Given the description of an element on the screen output the (x, y) to click on. 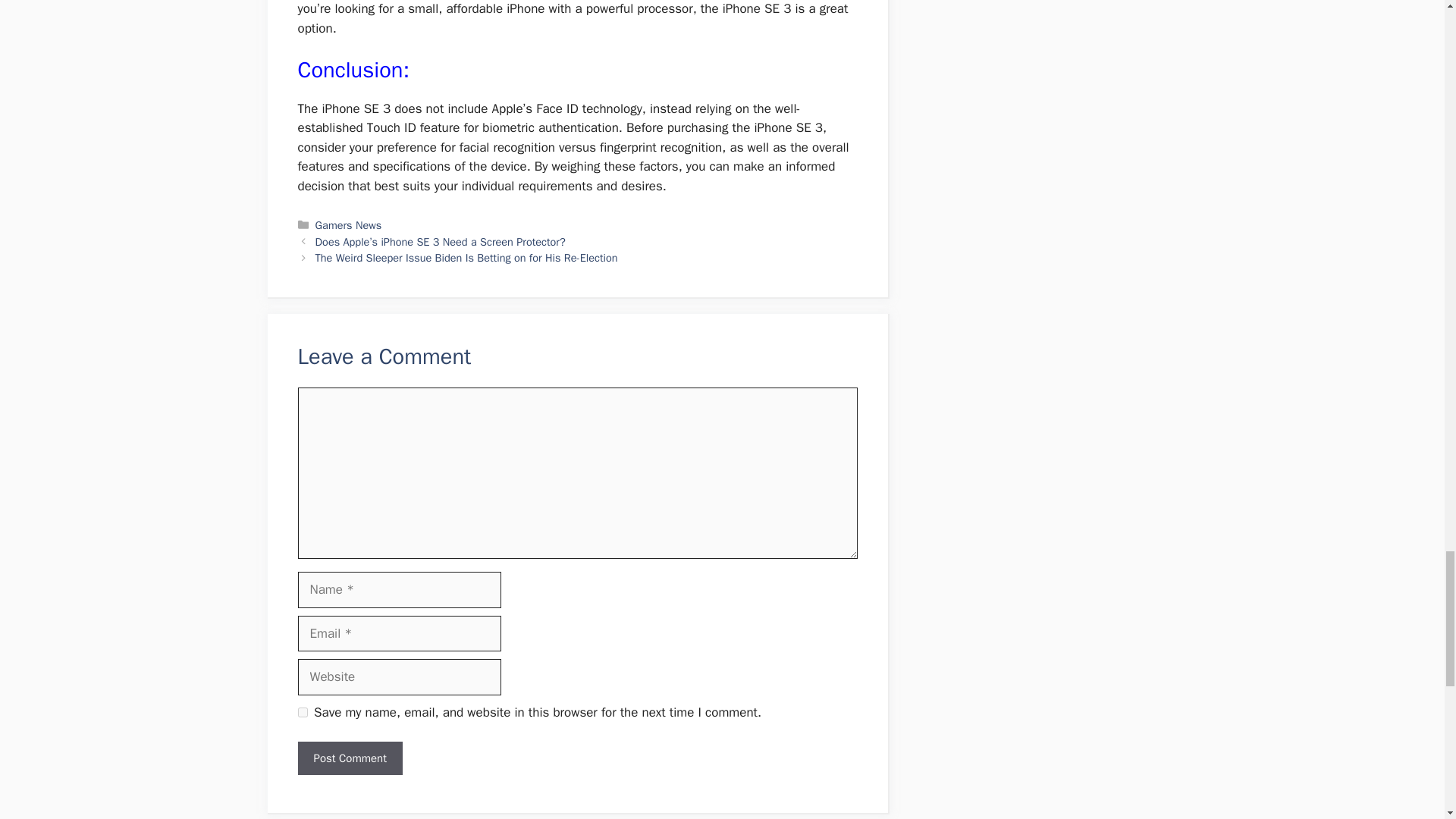
Post Comment (349, 758)
Gamers News (348, 224)
Post Comment (349, 758)
yes (302, 712)
